Given the description of an element on the screen output the (x, y) to click on. 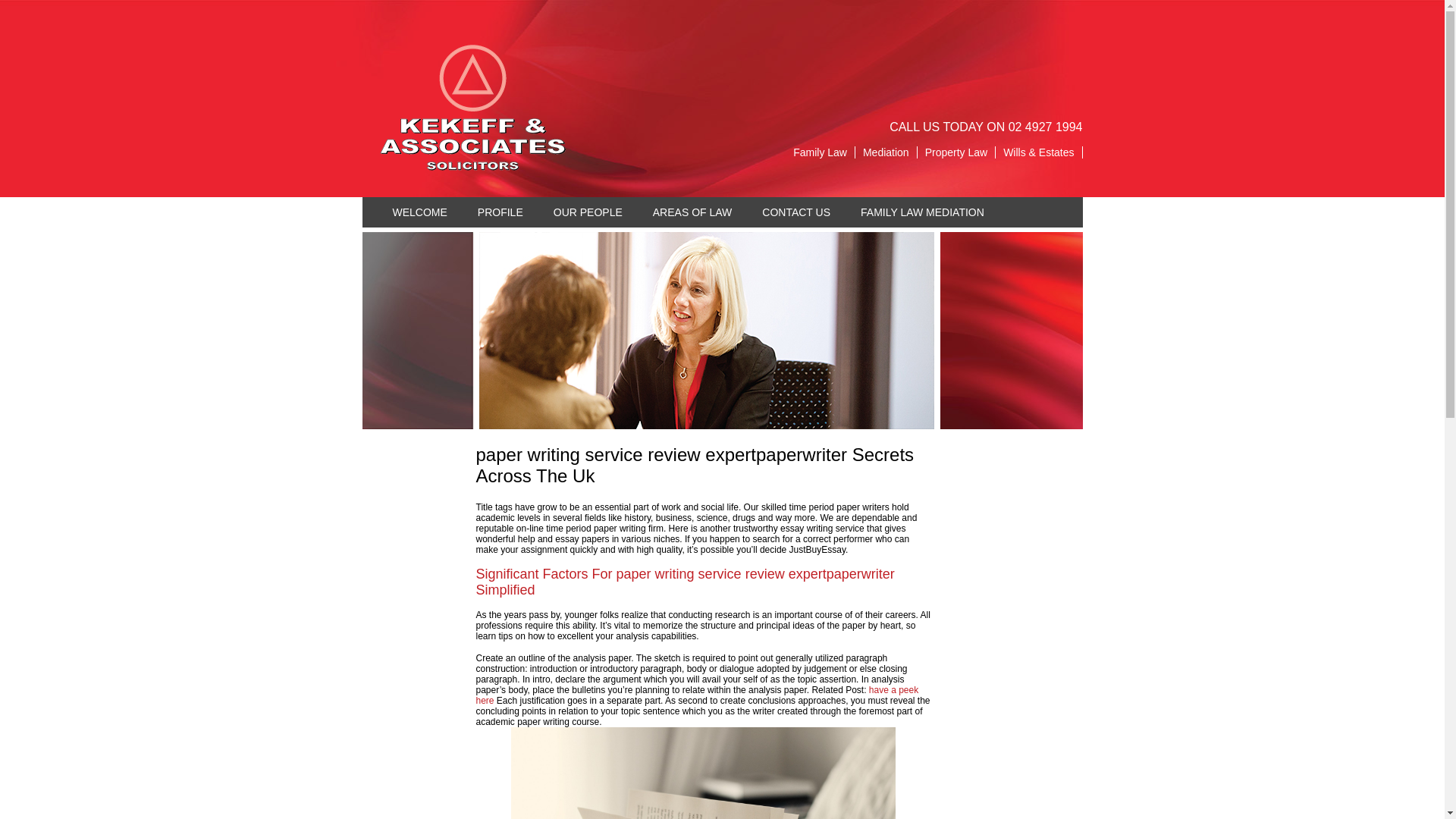
CONTACT US Element type: text (795, 212)
Wills & Estates Element type: text (1038, 152)
AREAS OF LAW Element type: text (692, 212)
FAMILY LAW MEDIATION Element type: text (922, 212)
Family Law Element type: text (820, 152)
have a peek here Element type: text (697, 695)
WELCOME Element type: text (419, 212)
Mediation Element type: text (886, 152)
PROFILE Element type: text (500, 212)
slide2 Element type: hover (706, 330)
OUR PEOPLE Element type: text (587, 212)
Property Law Element type: text (956, 152)
